Given the description of an element on the screen output the (x, y) to click on. 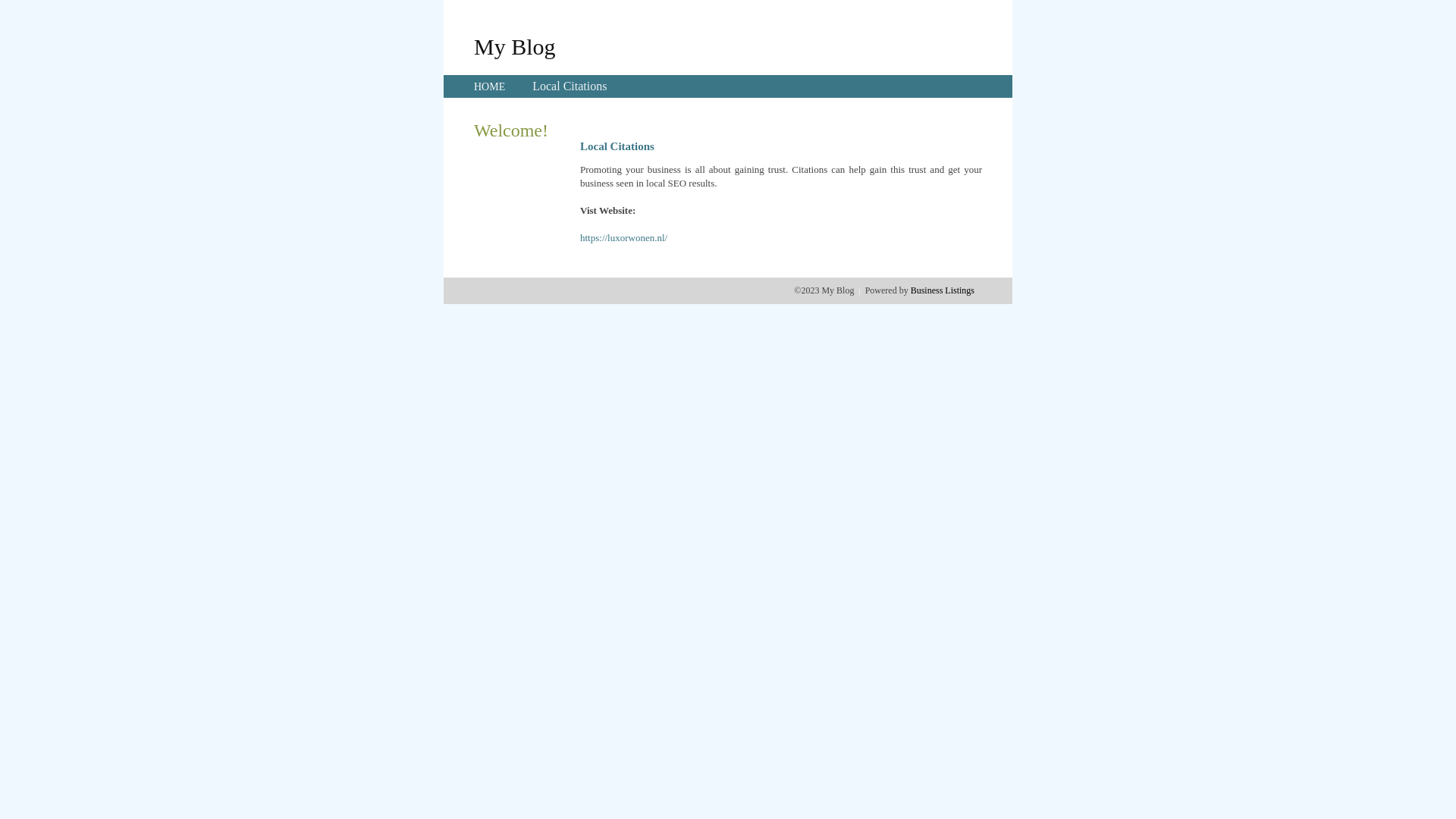
https://luxorwonen.nl/ Element type: text (623, 237)
Business Listings Element type: text (942, 290)
Local Citations Element type: text (569, 85)
My Blog Element type: text (514, 46)
HOME Element type: text (489, 86)
